Given the description of an element on the screen output the (x, y) to click on. 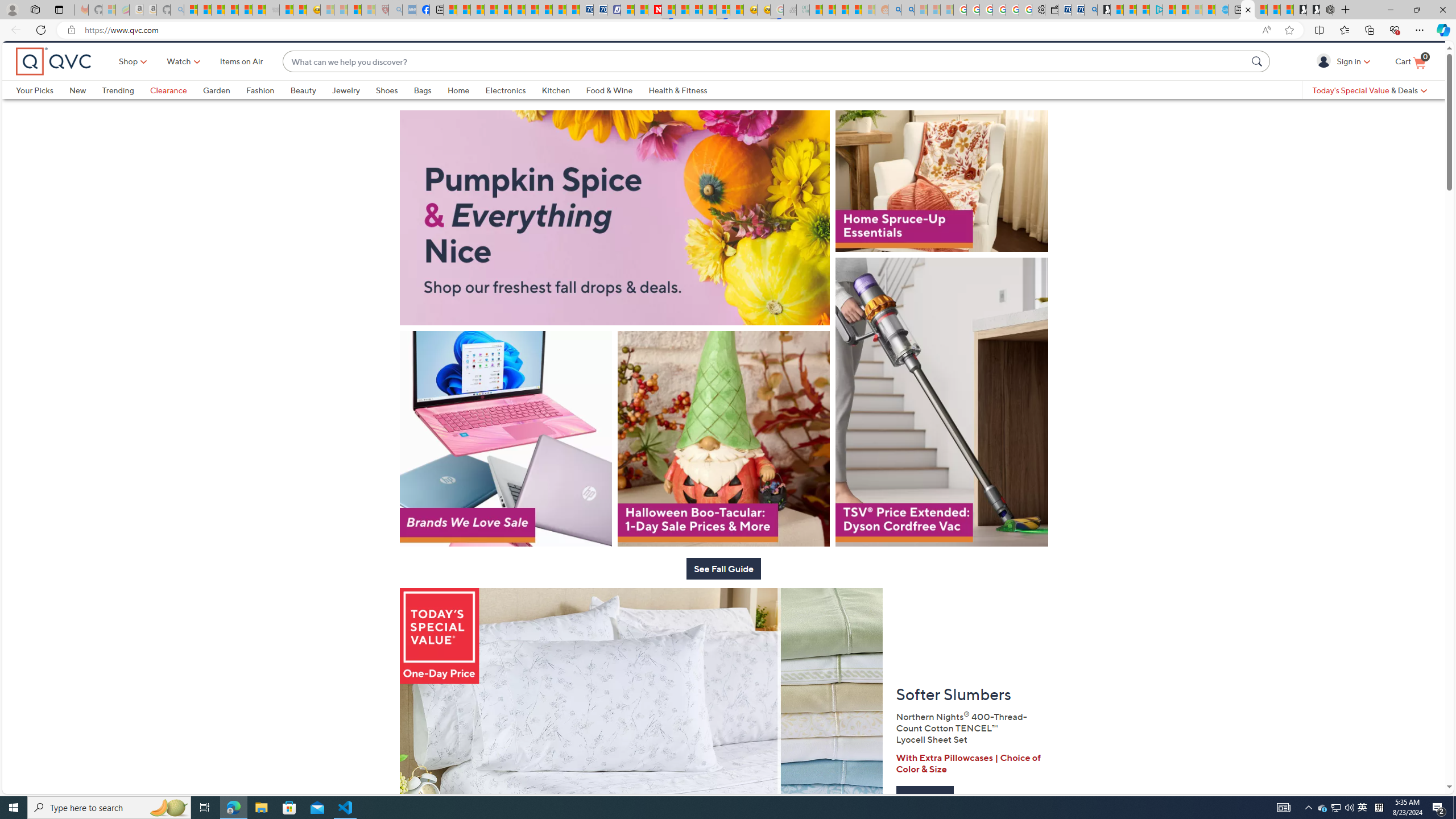
New Report Confirms 2023 Was Record Hot | Watch (245, 9)
Garden (224, 109)
Cheap Car Rentals - Save70.com (1077, 9)
Kitchen (555, 109)
Halloween Boo-Tacular: 1-Day Sale Prices & More (723, 473)
World - MSN (477, 9)
Latest Politics News & Archive | Newsweek.com (654, 9)
Trending (117, 109)
Watch (178, 80)
Shop (129, 80)
